Given the description of an element on the screen output the (x, y) to click on. 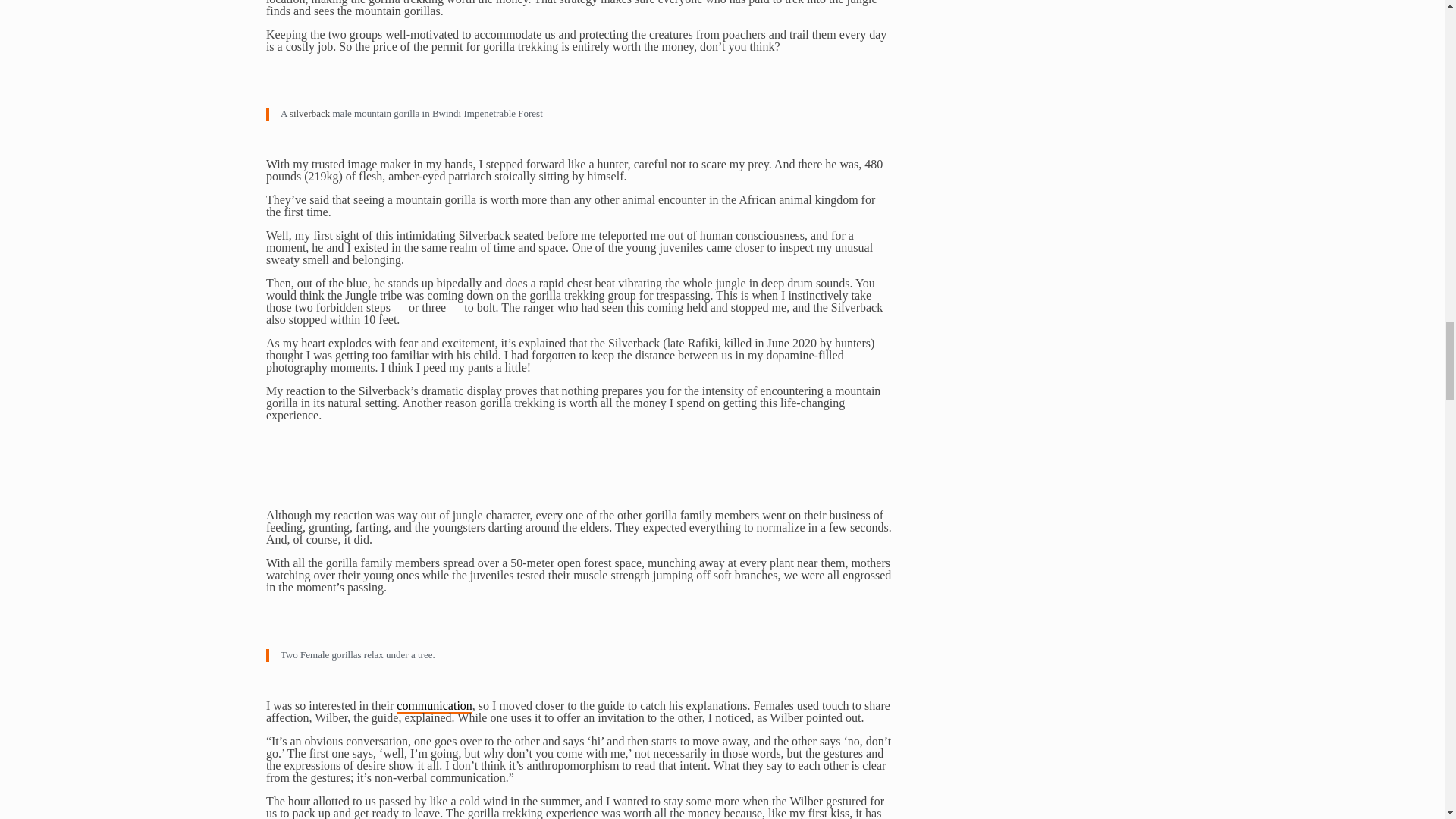
communication (433, 706)
silverback (309, 112)
